Given the description of an element on the screen output the (x, y) to click on. 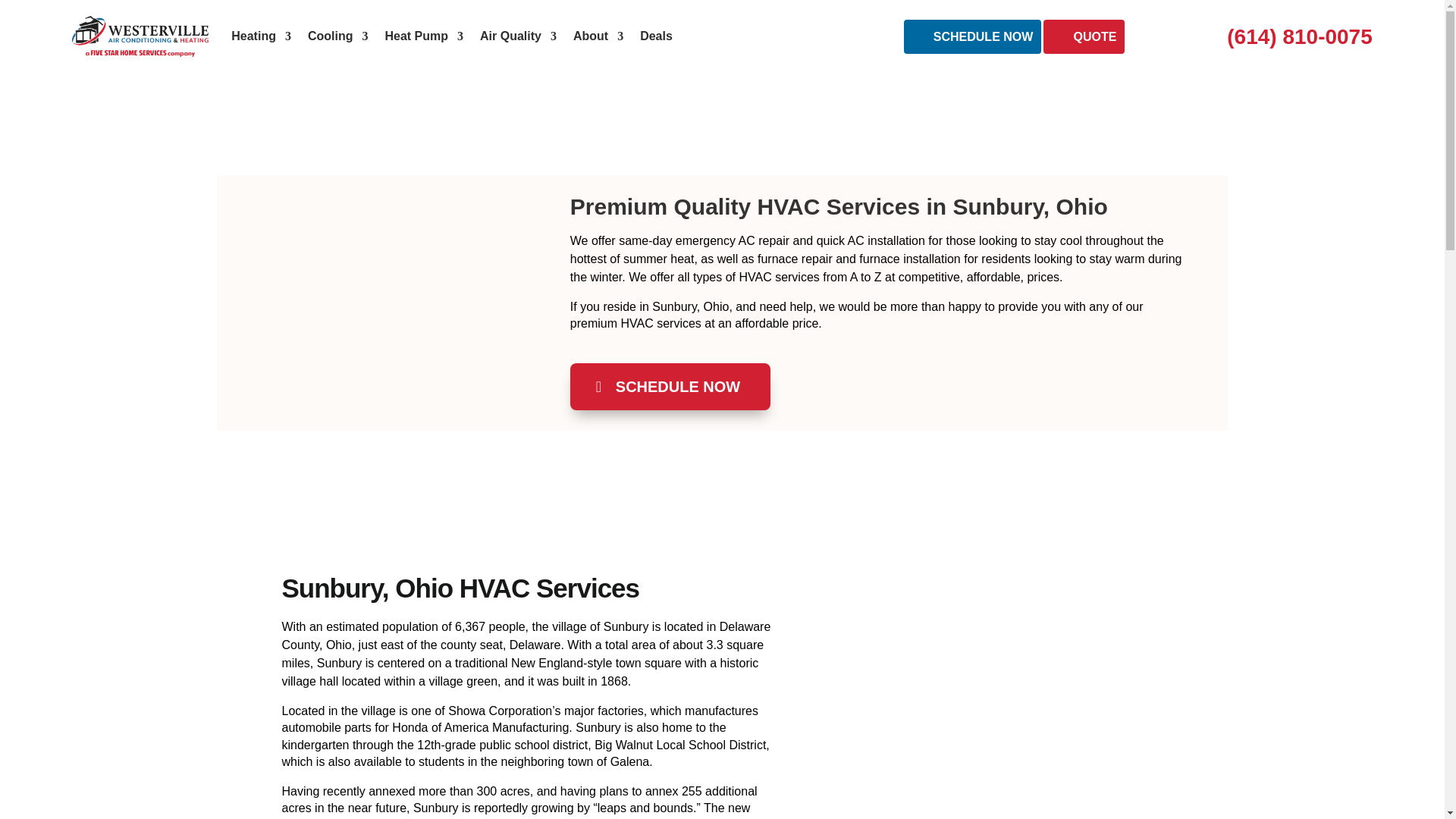
SCHEDULE NOW (670, 386)
Air Quality (518, 36)
Cooling (337, 36)
Heat Pump (423, 36)
Heating (261, 36)
